Given the description of an element on the screen output the (x, y) to click on. 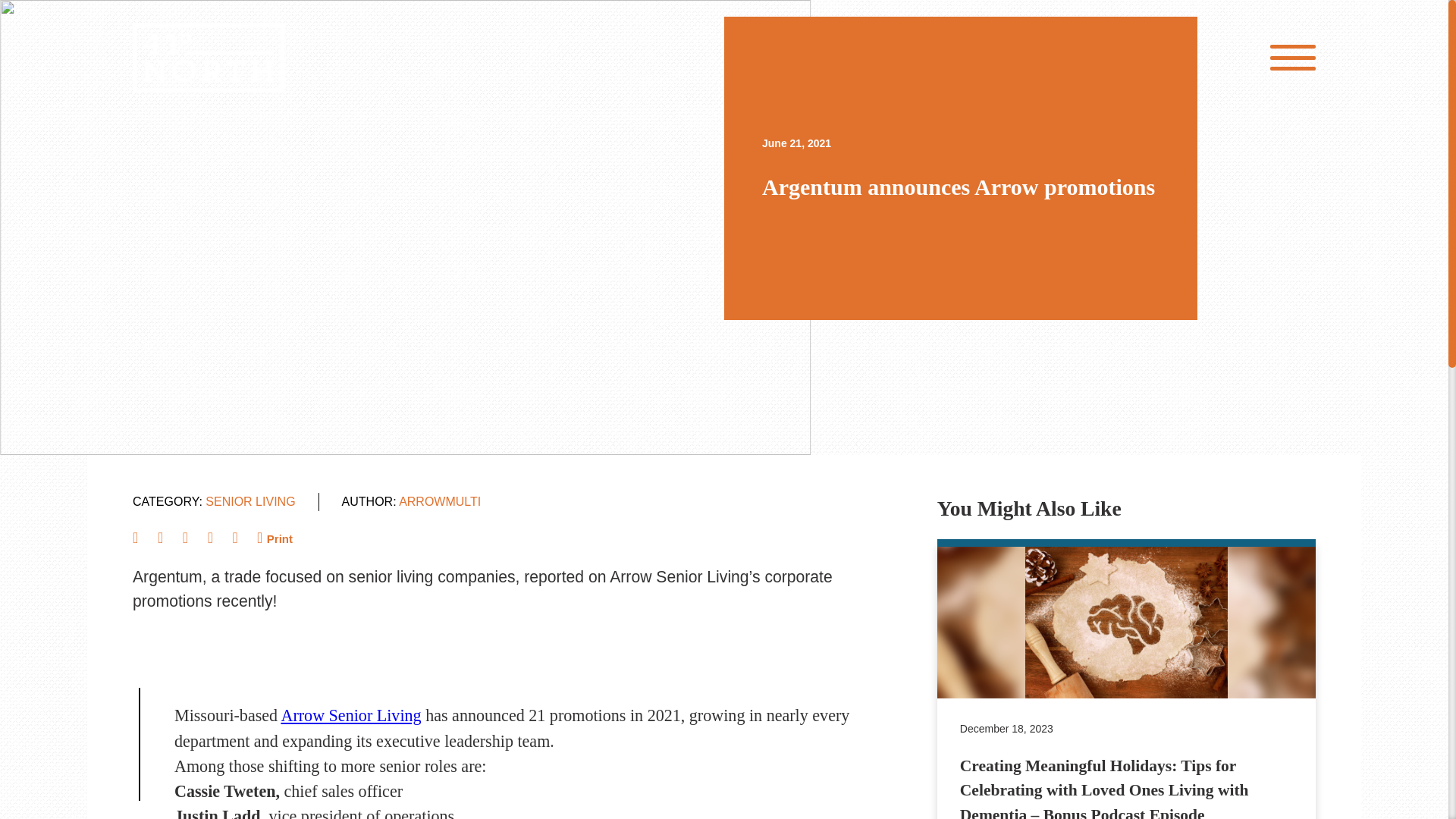
Arrow Senior Living (350, 714)
Print (278, 537)
CATEGORY: SENIOR LIVING (213, 502)
